Given the description of an element on the screen output the (x, y) to click on. 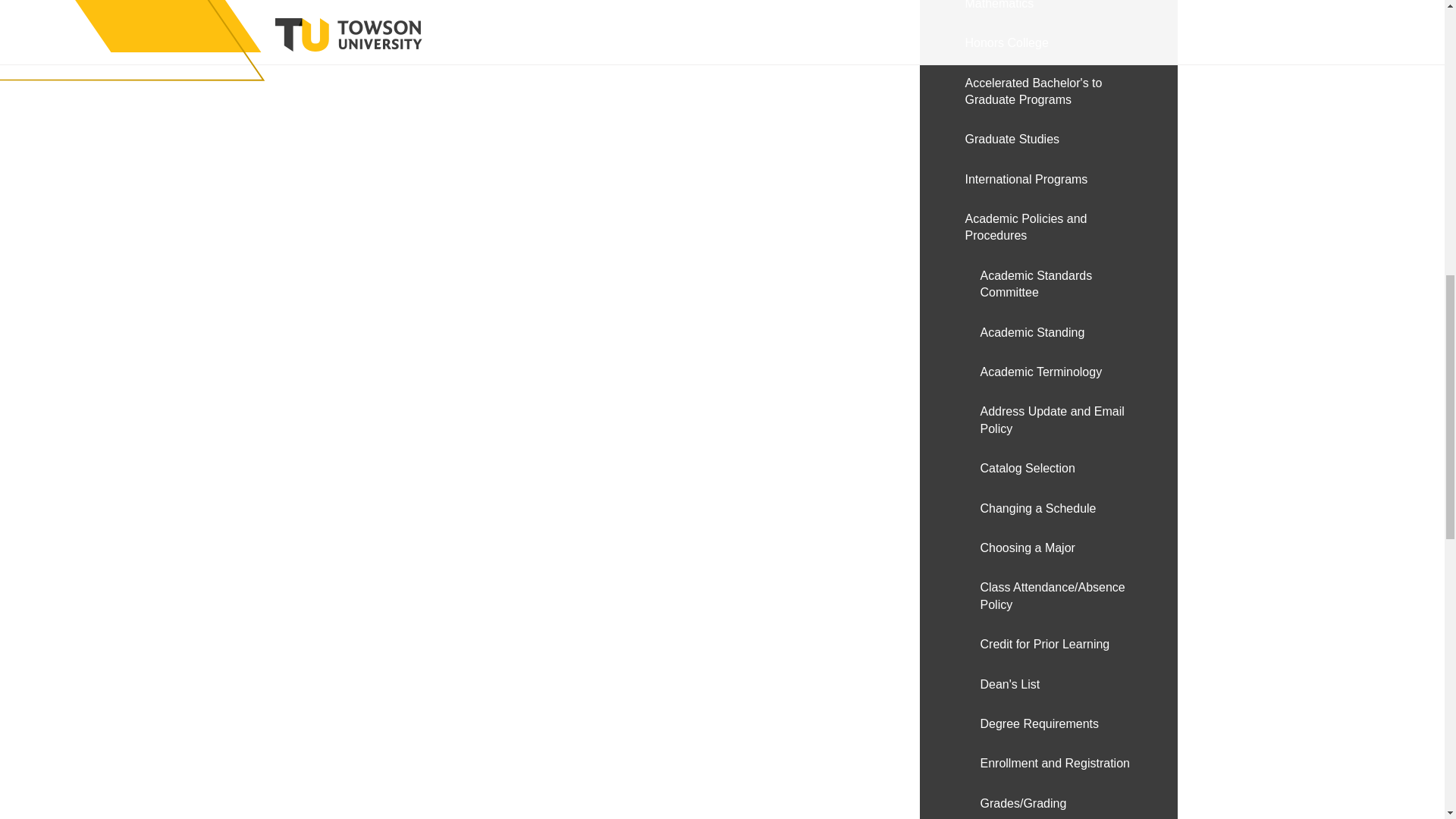
Academic Standing (1047, 332)
Credit for Prior Learning (1047, 644)
Degree Requirements (1047, 723)
Address Update and Email Policy (1047, 420)
Changing a Schedule (1047, 508)
Fisher College of Science and Mathematics (1047, 11)
Choosing a Major (1047, 548)
Academic Policies and Procedures (1047, 227)
Enrollment and Registration (1047, 762)
Graduate Studies (1047, 138)
